Given the description of an element on the screen output the (x, y) to click on. 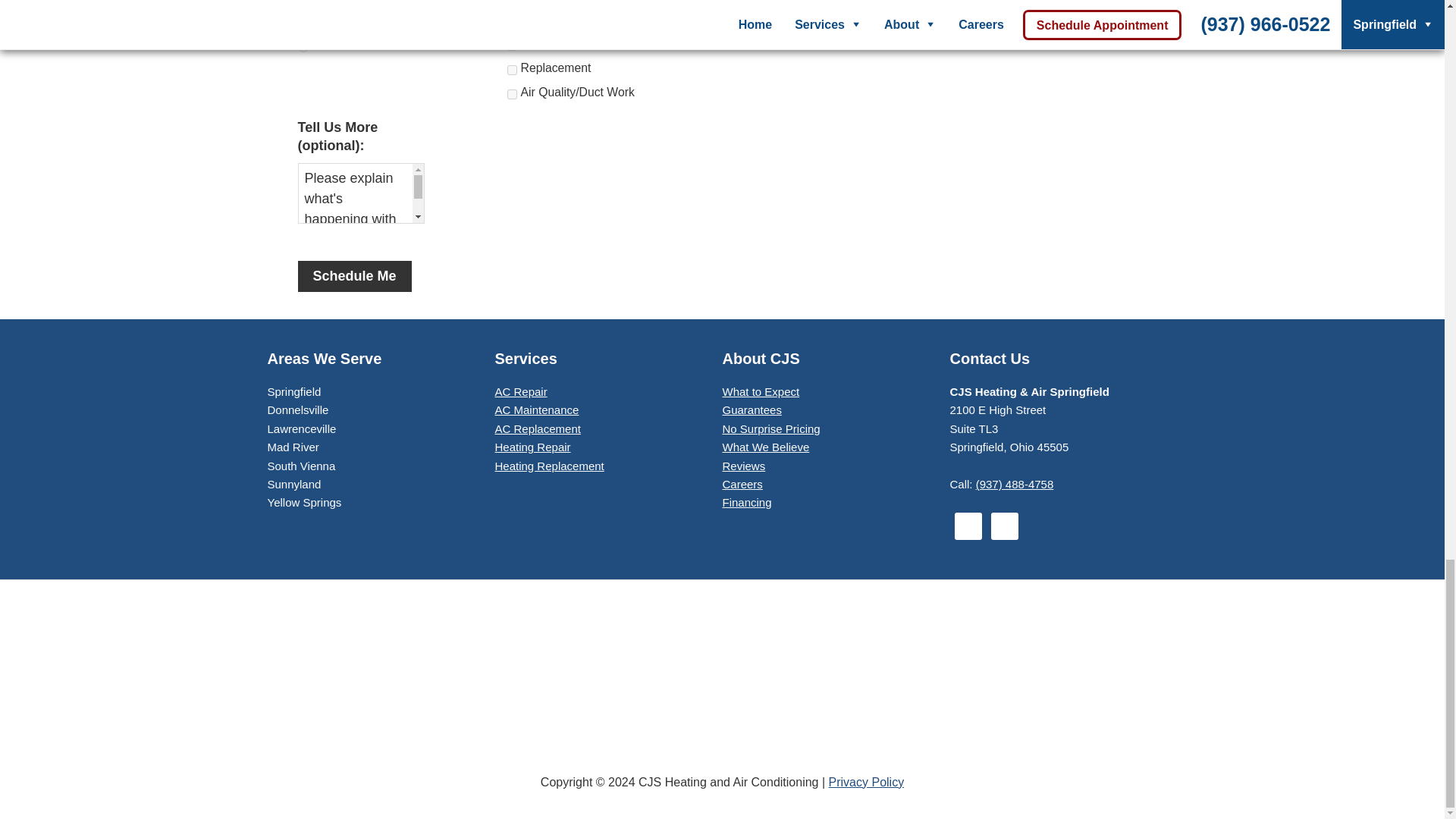
Repair (511, 45)
Email (303, 47)
Schedule Me (353, 276)
Replacement (511, 70)
Tune-up (511, 21)
Telephone (303, 22)
